Given the description of an element on the screen output the (x, y) to click on. 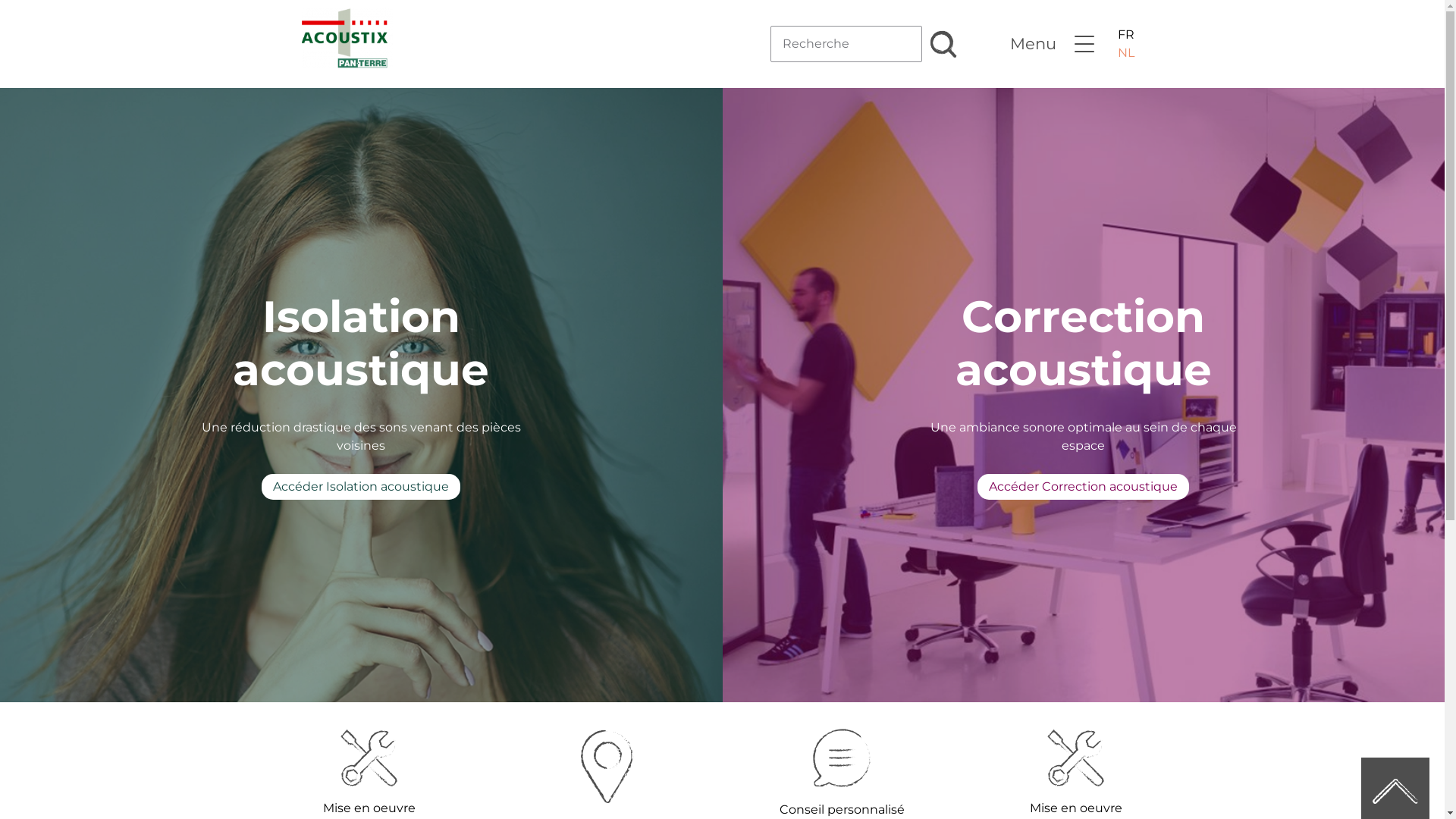
Rechercher Element type: text (947, 55)
FR Element type: text (1125, 34)
NL Element type: text (1125, 52)
